Given the description of an element on the screen output the (x, y) to click on. 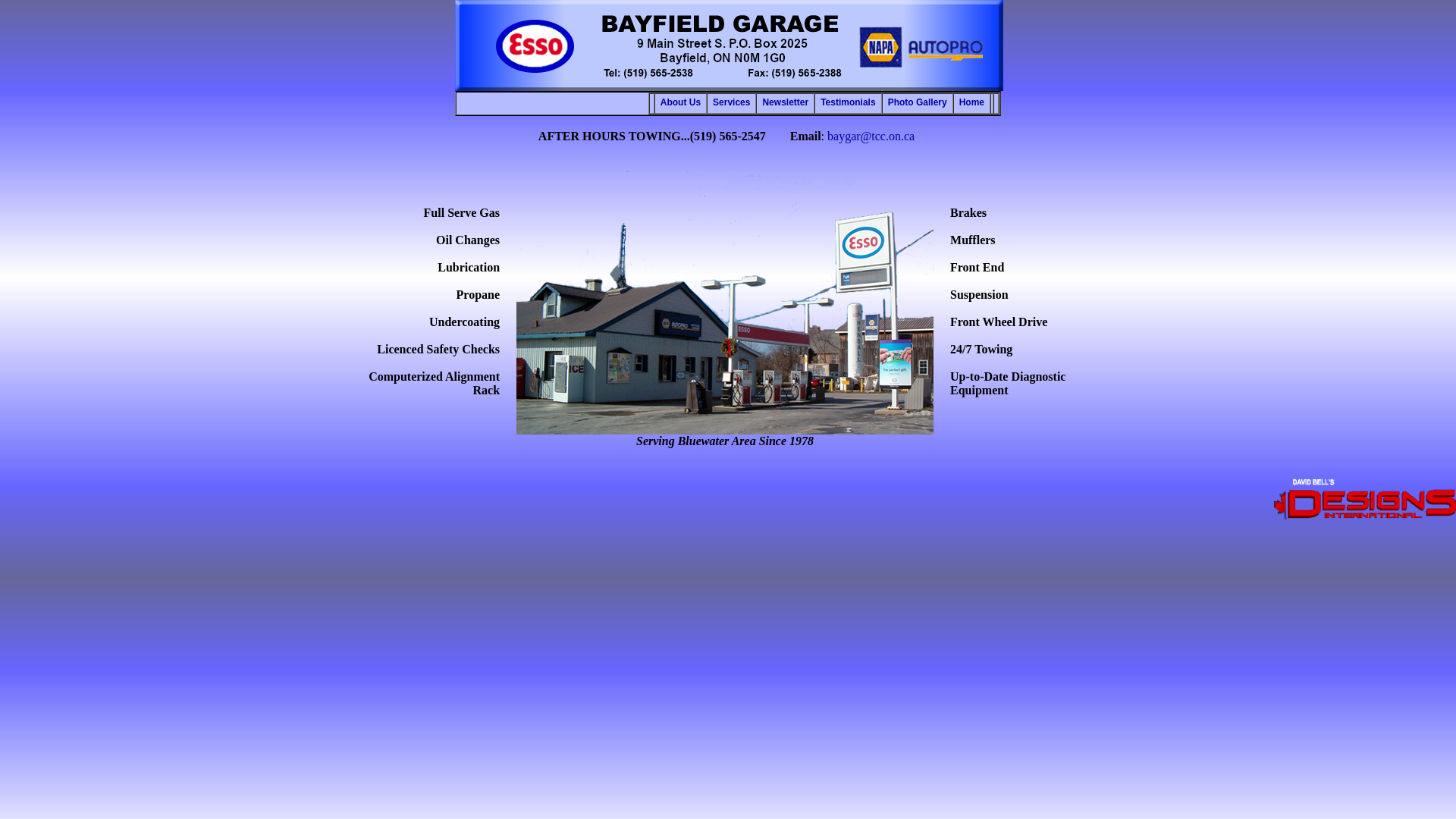
Newsletter Element type: text (784, 103)
About Us Element type: text (680, 103)
Home Element type: text (971, 103)
baygar@tcc.on.ca Element type: text (870, 135)
Services Element type: text (731, 103)
Photo Gallery Element type: text (917, 103)
Testimonials Element type: text (847, 103)
